Given the description of an element on the screen output the (x, y) to click on. 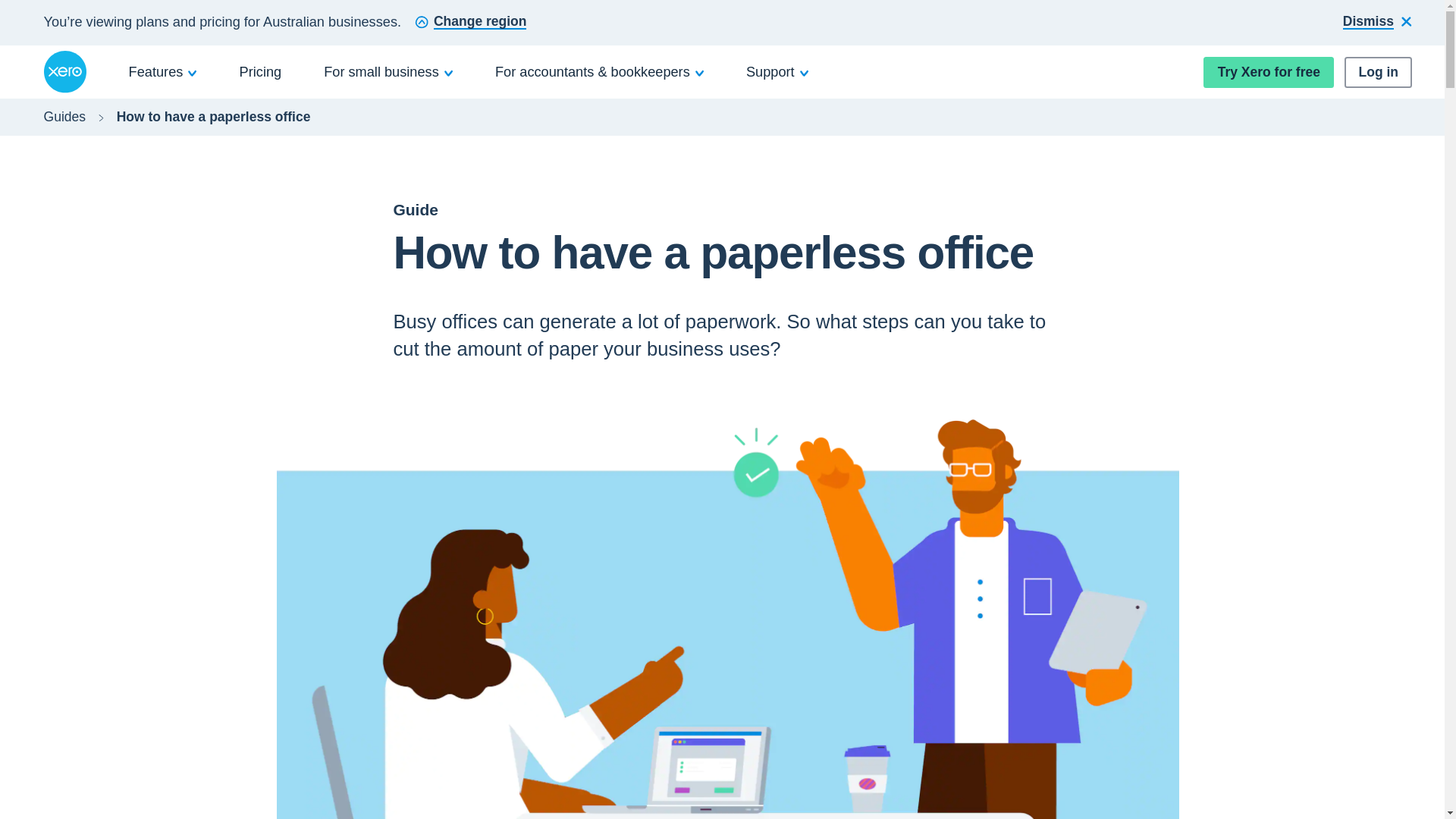
Features (162, 71)
Try Xero for free (1268, 71)
Support (777, 71)
For small business (388, 71)
Pricing (260, 71)
Guides (64, 116)
Dismiss (1377, 23)
How to have a paperless office (213, 116)
Change region (469, 23)
Log in (1377, 71)
